Given the description of an element on the screen output the (x, y) to click on. 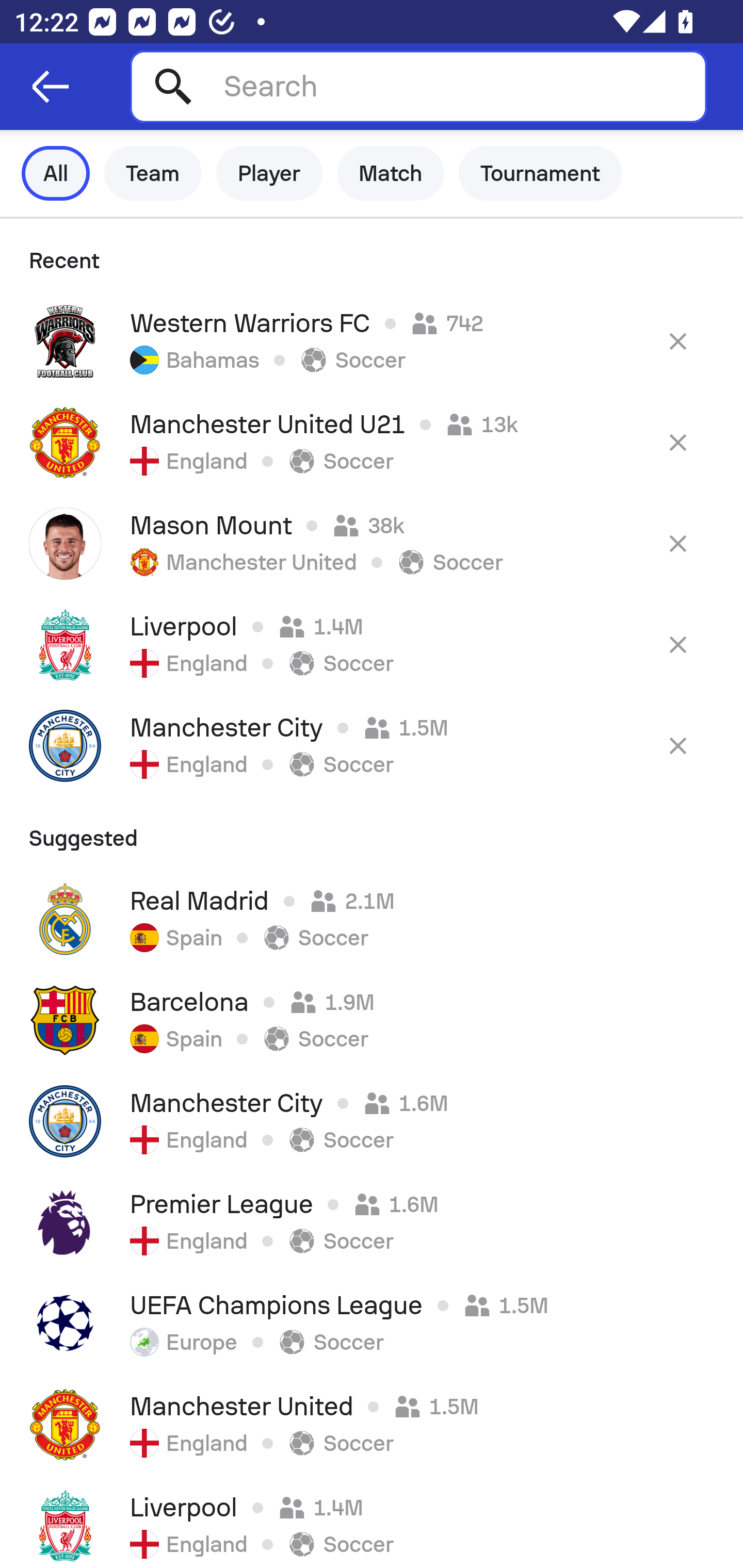
Navigate up (50, 86)
Search (418, 86)
All (55, 172)
Team (152, 172)
Player (268, 172)
Match (390, 172)
Tournament (540, 172)
Recent (371, 254)
Western Warriors FC 742 Bahamas Soccer (371, 341)
Manchester United U21 13k England Soccer (371, 442)
Mason Mount 38k Manchester United Soccer (371, 543)
Liverpool 1.4M England Soccer (371, 644)
Manchester City 1.5M England Soccer (371, 745)
Suggested (371, 832)
Real Madrid 2.1M Spain Soccer (371, 918)
Barcelona 1.9M Spain Soccer (371, 1019)
Manchester City 1.6M England Soccer (371, 1120)
Premier League 1.6M England Soccer (371, 1222)
UEFA Champions League 1.5M Europe Soccer (371, 1323)
Manchester United 1.5M England Soccer (371, 1424)
Liverpool 1.4M England Soccer (371, 1521)
